Given the description of an element on the screen output the (x, y) to click on. 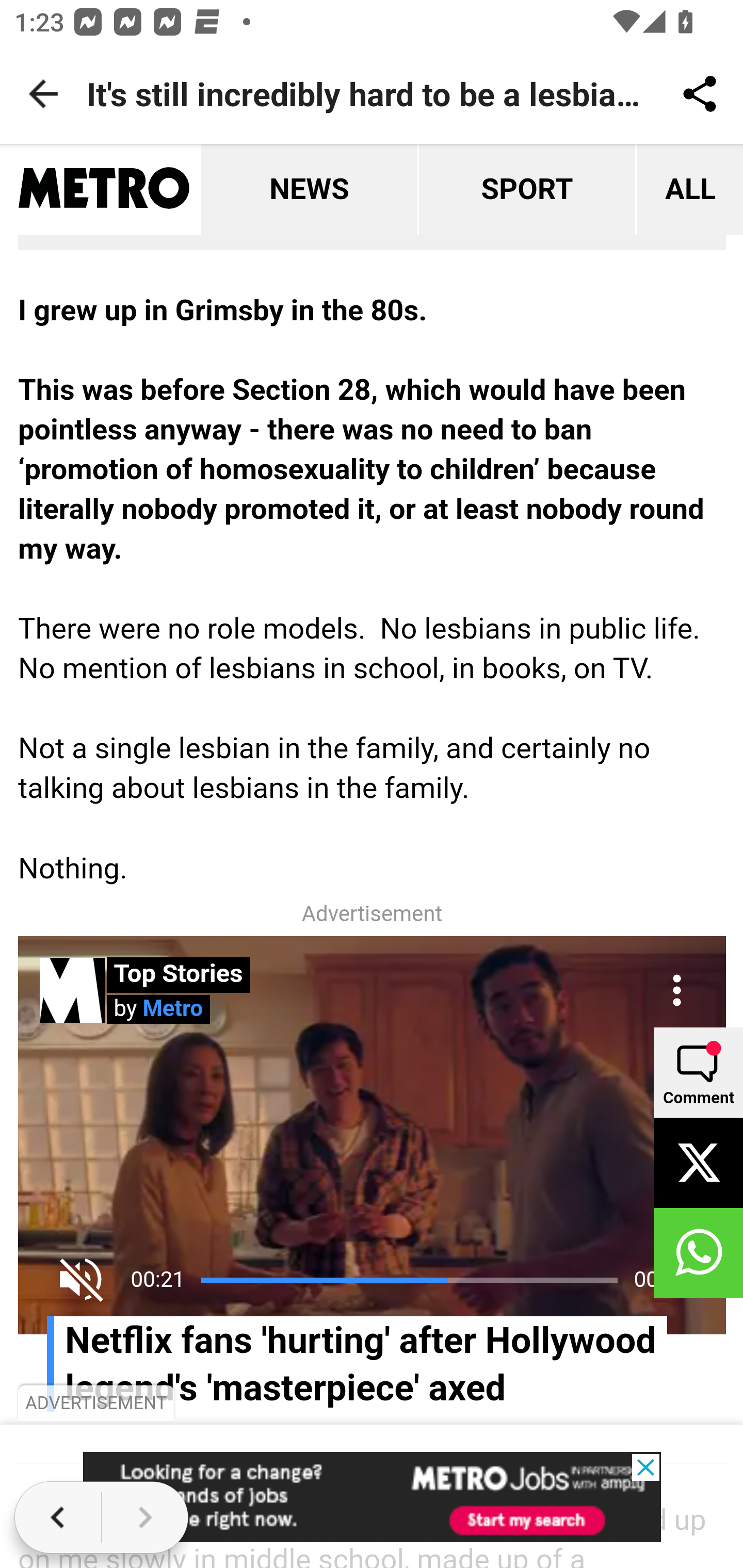
NEWS (308, 190)
SPORT (525, 190)
ALL (688, 190)
Metro (104, 190)
More (676, 990)
Unmute (m) (81, 1279)
%3Fsource%3Dbanners-v1 (372, 1496)
